Given the description of an element on the screen output the (x, y) to click on. 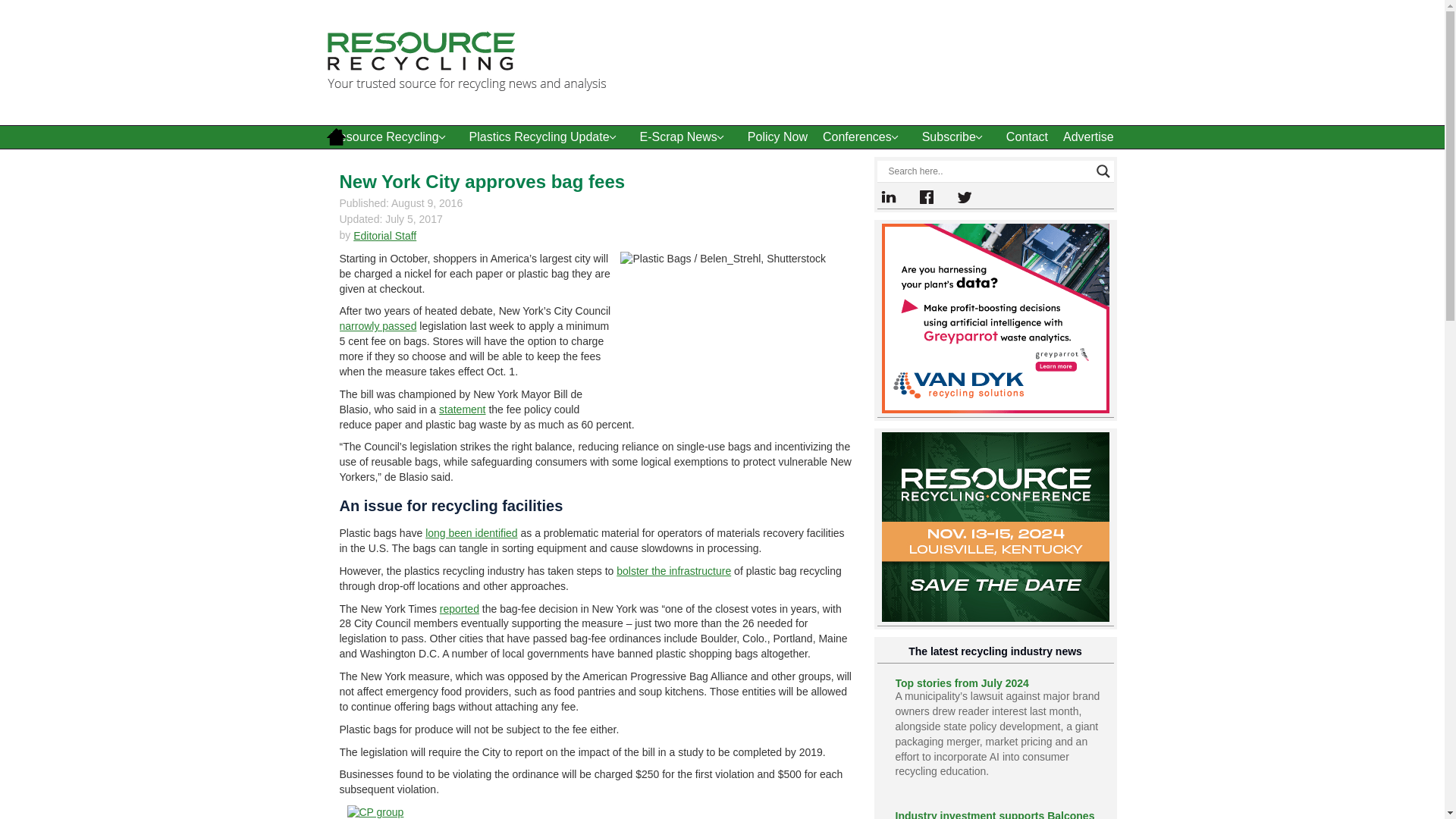
Resource Recycling (392, 137)
Permalink to New York City approves bag fees (482, 181)
E-Scrap News (685, 137)
Subscribe (956, 137)
Plastics Recycling Update (546, 137)
Advertise (1088, 137)
Conferences (864, 137)
New York City approves bag fees (482, 181)
View all posts by Editorial Staff (384, 235)
Contact (1026, 137)
